Given the description of an element on the screen output the (x, y) to click on. 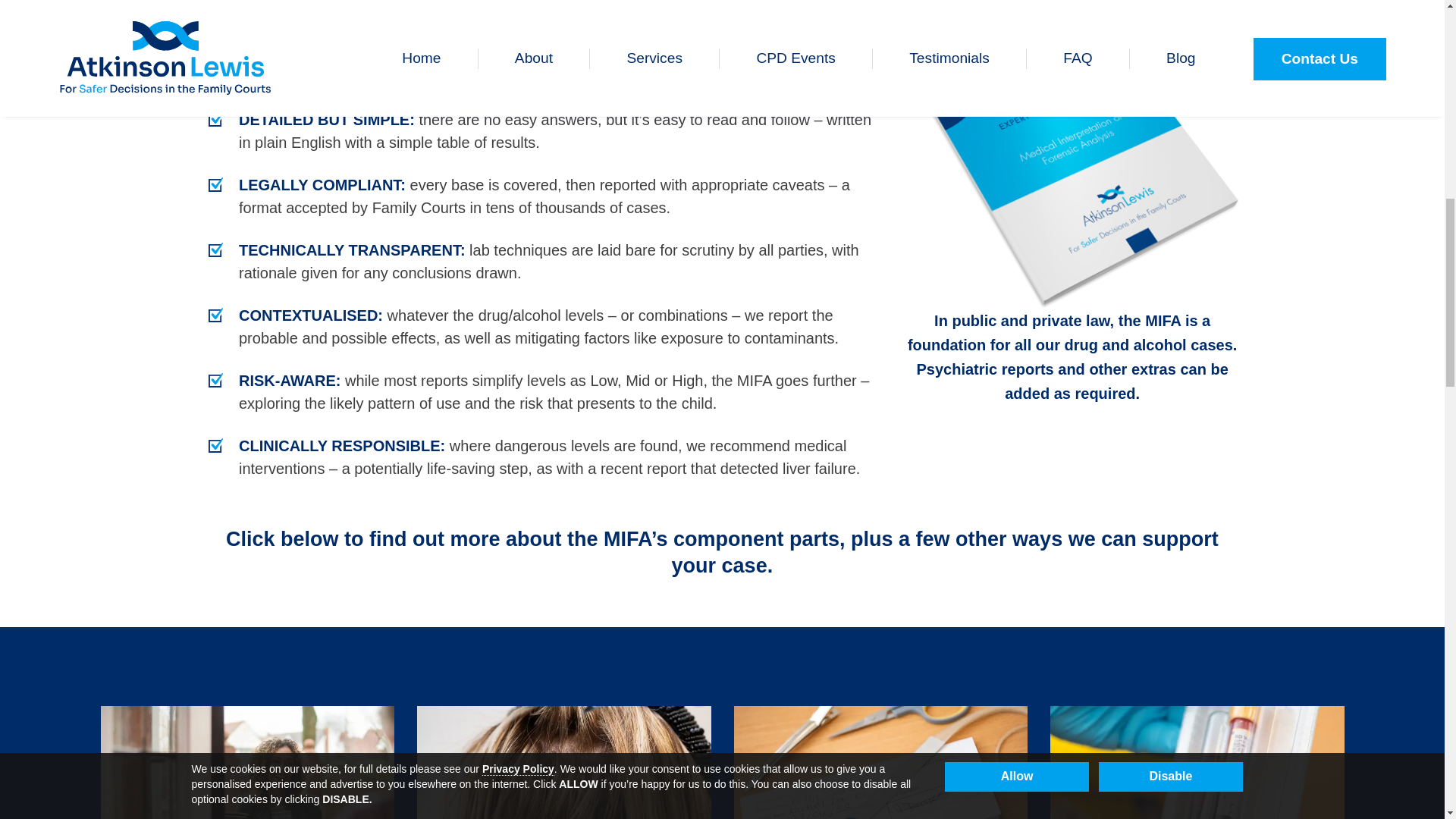
Sample Collection (247, 762)
Hair Alcohol Testing (880, 762)
Hair Drug Testing (563, 762)
Blood Alcohol Testing (1196, 762)
